Given the description of an element on the screen output the (x, y) to click on. 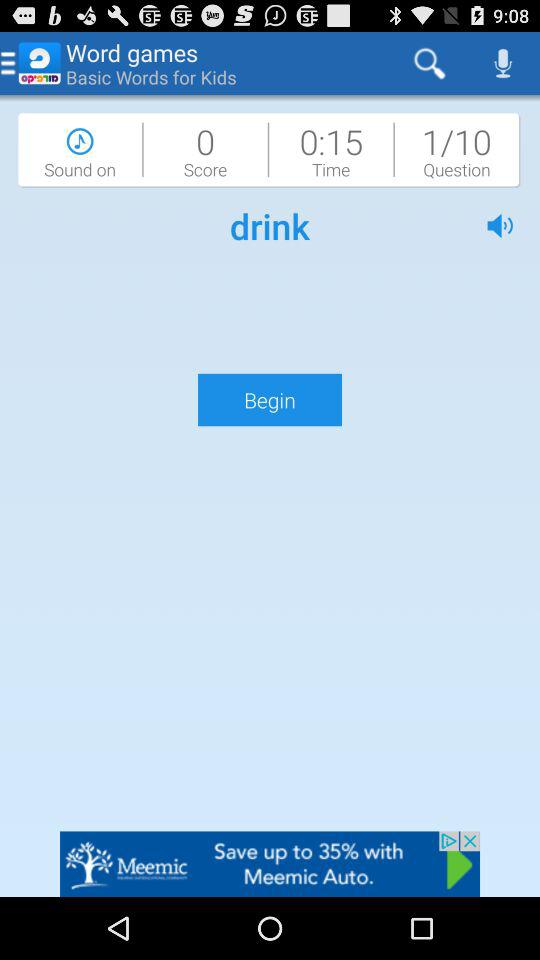
go to advertisement (270, 864)
